Given the description of an element on the screen output the (x, y) to click on. 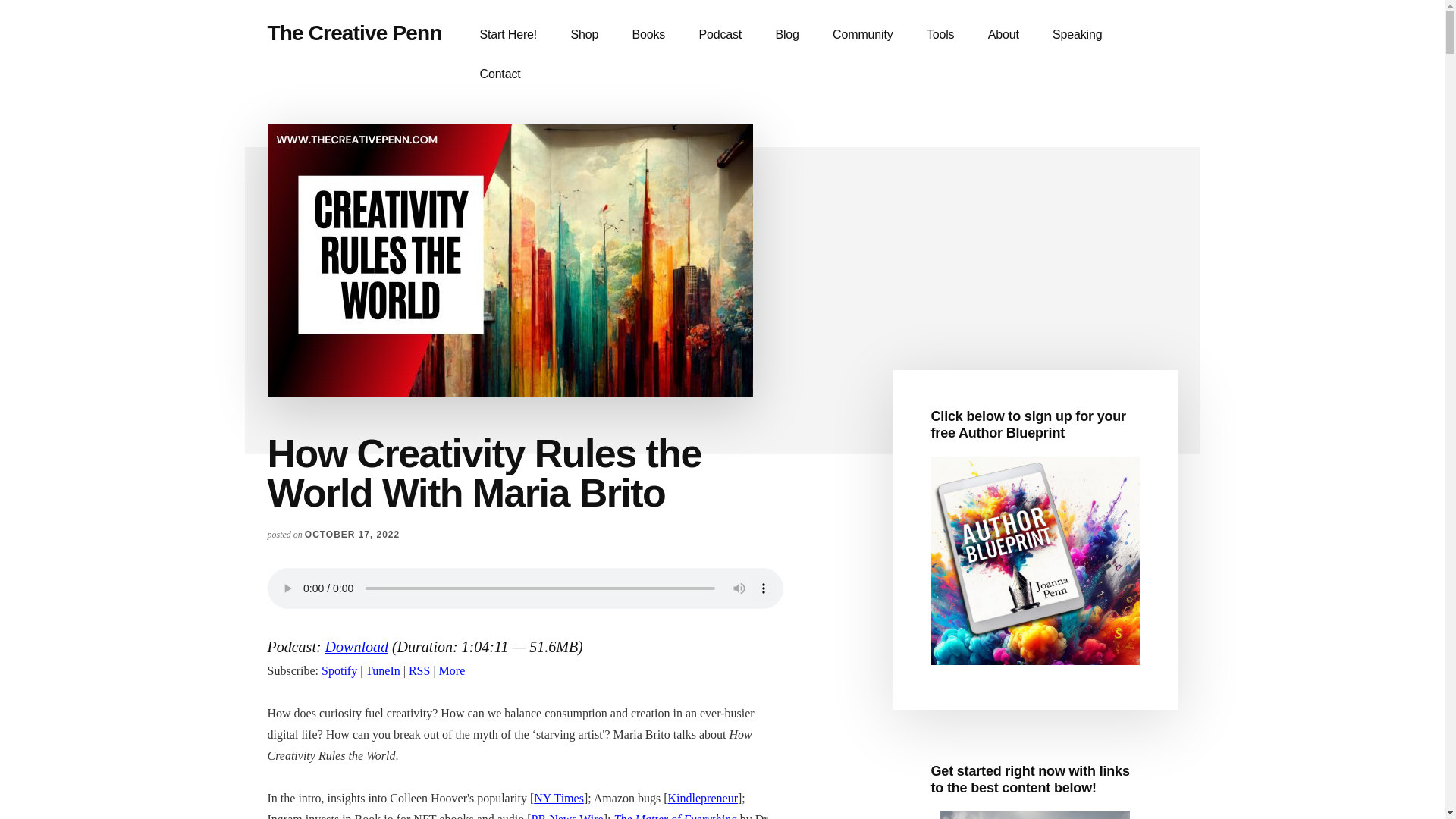
The Matter of Everything (673, 816)
Podcast (719, 34)
Speaking (1076, 34)
Download (356, 646)
Subscribe via RSS (419, 670)
Books (647, 34)
Download (356, 646)
Blog (786, 34)
Kindlepreneur (703, 797)
Subscribe on TuneIn (382, 670)
TuneIn (382, 670)
More (452, 670)
Community (861, 34)
RSS (419, 670)
